Given the description of an element on the screen output the (x, y) to click on. 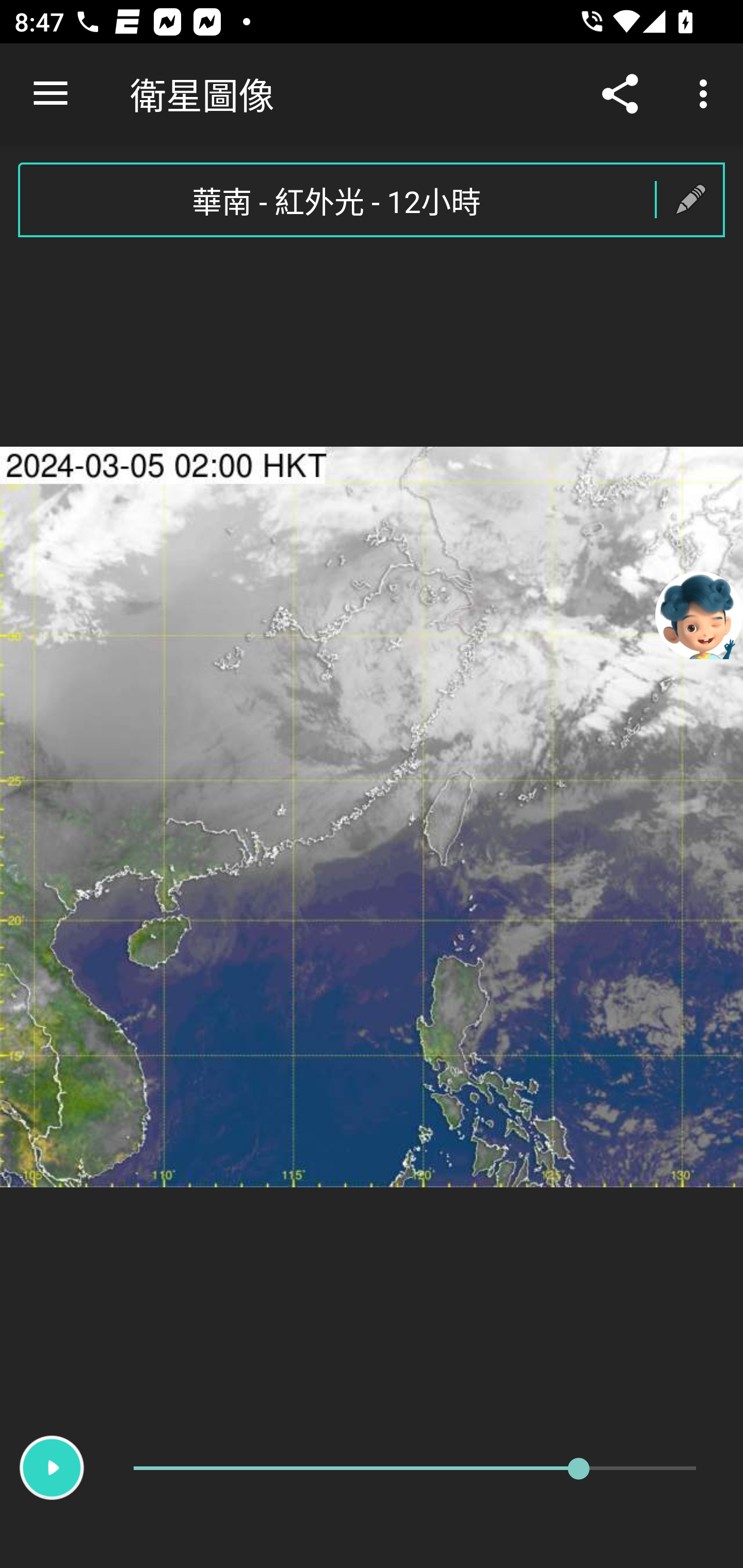
向上瀏覽 (50, 93)
分享 (619, 93)
更多選項 (706, 93)
華南 - 紅外光 - 12小時 編輯 (371, 199)
聊天機械人 (699, 614)
播放 (51, 1468)
